Given the description of an element on the screen output the (x, y) to click on. 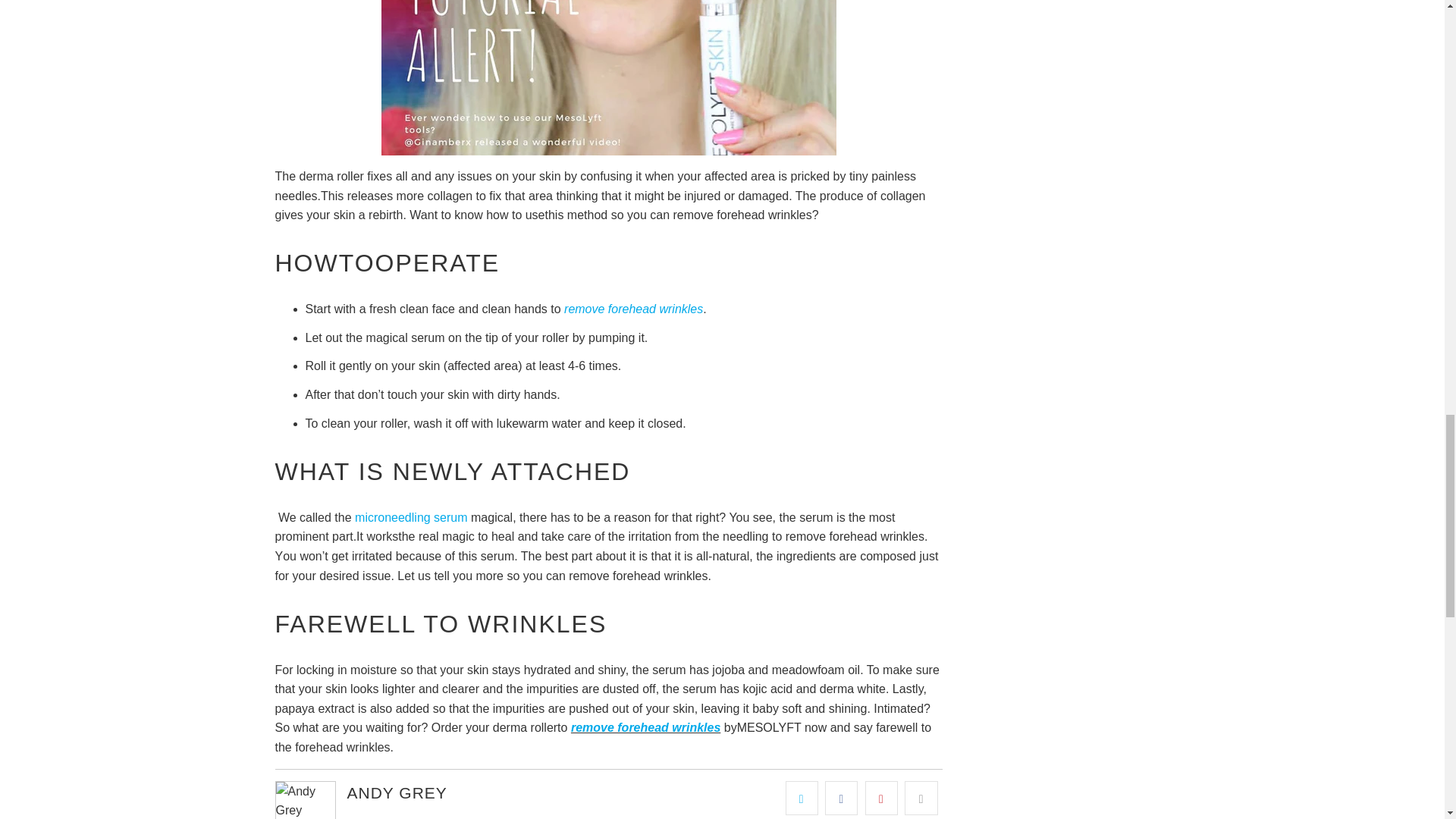
Share this on Facebook (841, 798)
remove forehead wrinkles (645, 727)
Email this to a friend (920, 798)
remove forehead wrinkles (633, 308)
remove forehead wrinkles (633, 308)
Share this on Twitter (802, 798)
remove forehead wrinkles (645, 727)
microneedling serum (411, 517)
Share this on Pinterest (881, 798)
microneedling serum (411, 517)
